Given the description of an element on the screen output the (x, y) to click on. 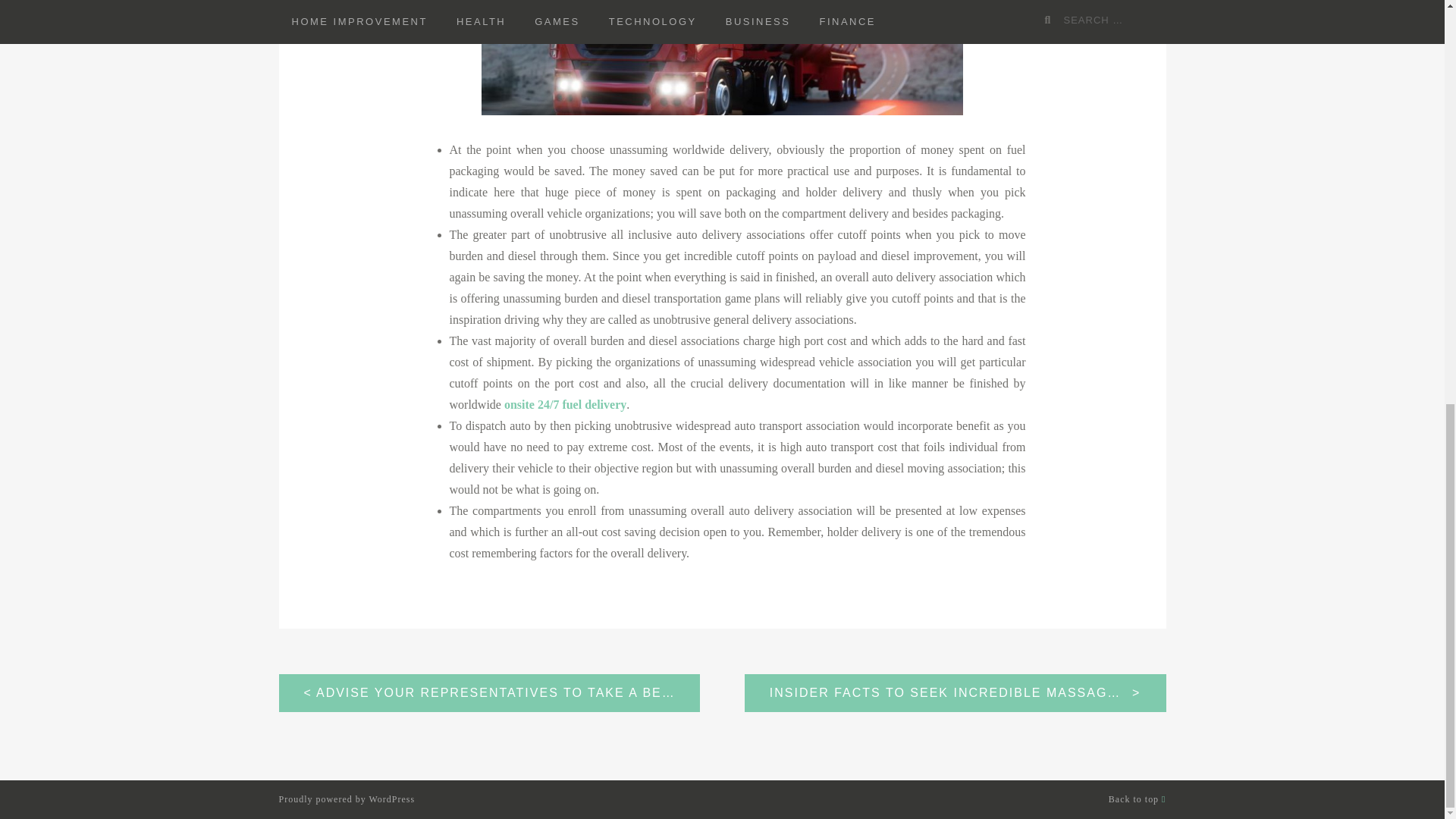
ADVISE YOUR REPRESENTATIVES TO TAKE A BEST TEAM MANAGEMENT (489, 692)
Back to top (1137, 798)
